Given the description of an element on the screen output the (x, y) to click on. 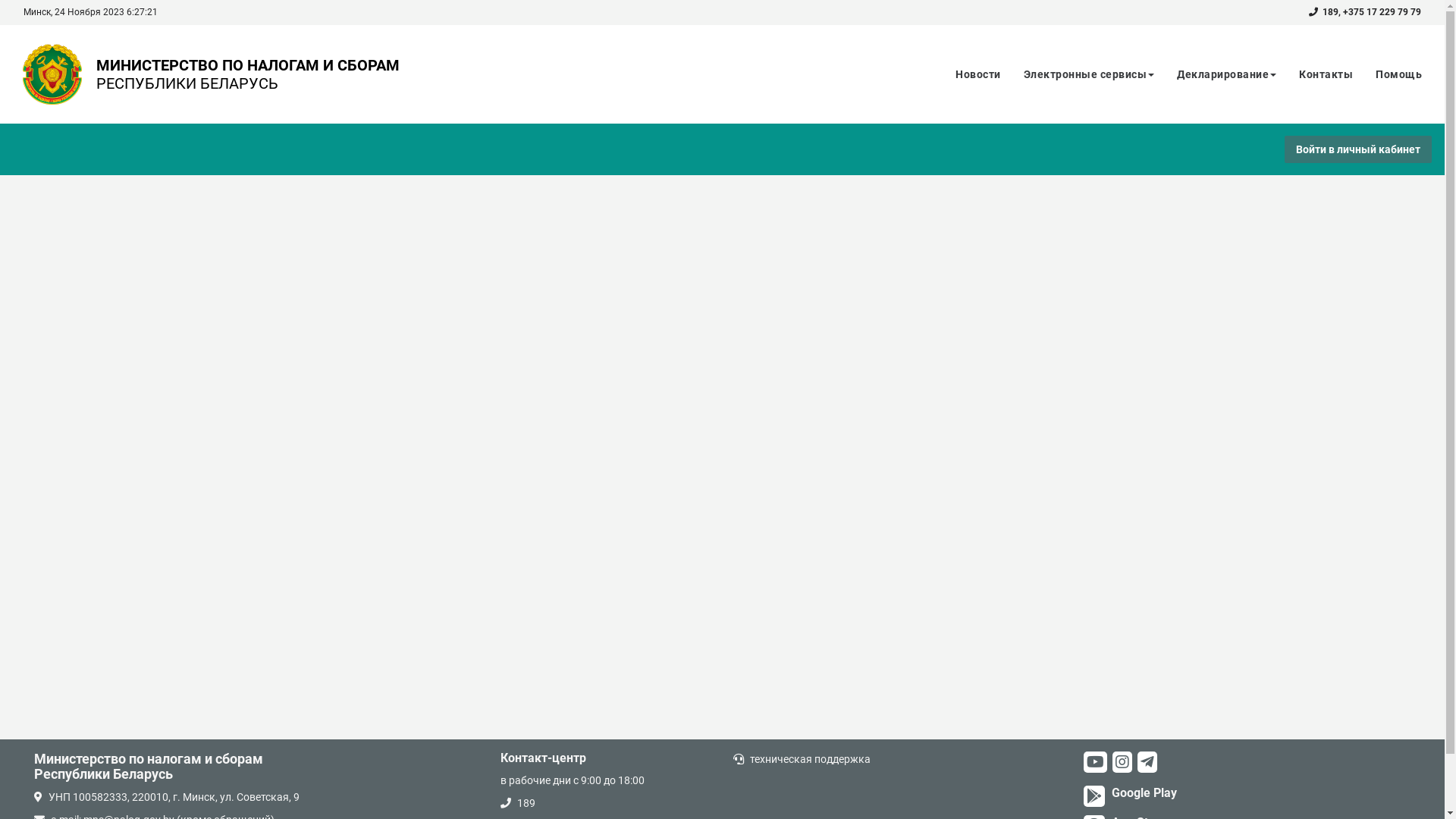
Google Play Element type: text (1141, 797)
